Given the description of an element on the screen output the (x, y) to click on. 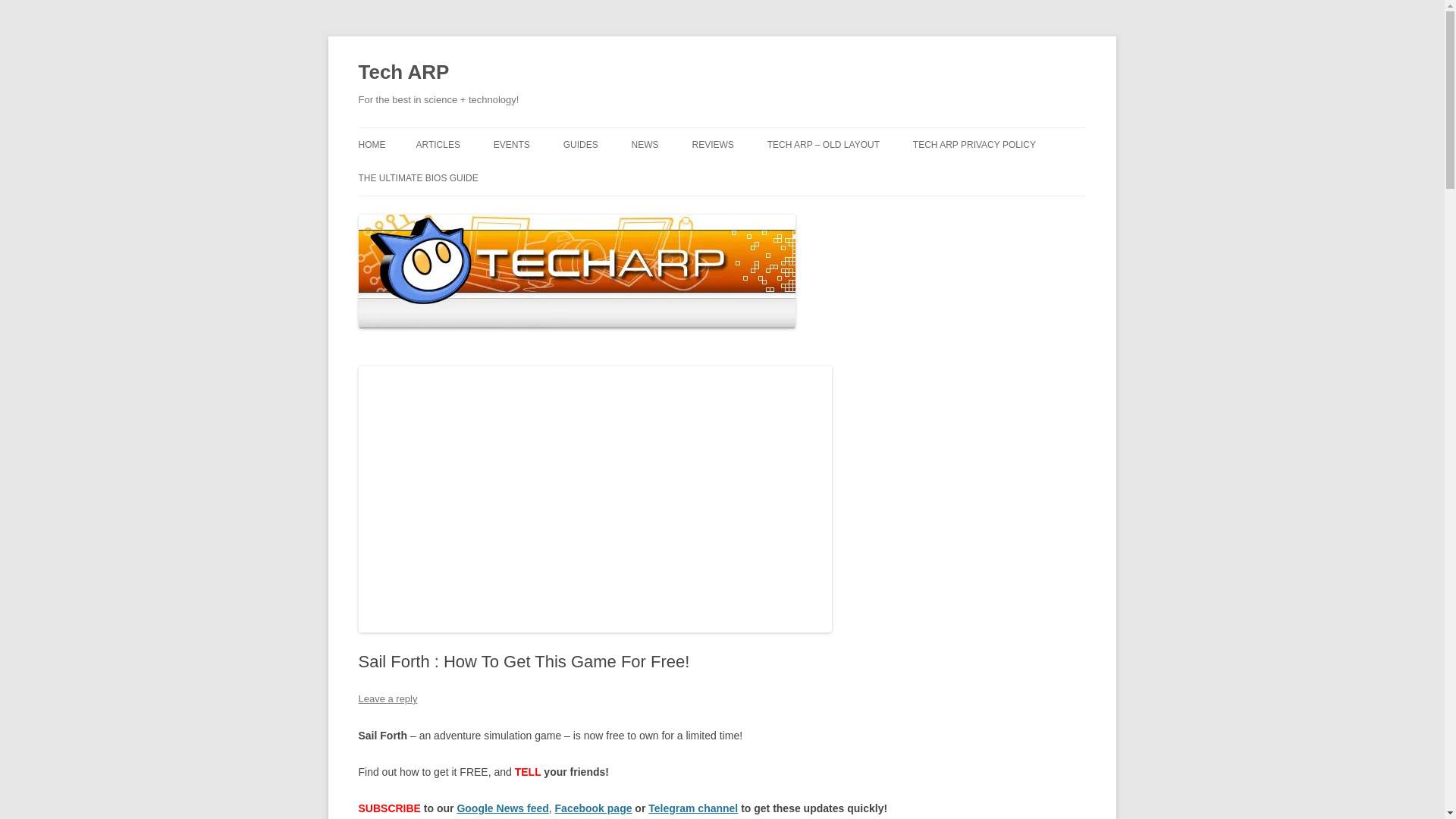
THE ULTIMATE BIOS GUIDE (417, 177)
Tech ARP (403, 72)
Telegram channel (692, 808)
Google News feed (502, 808)
Facebook page (592, 808)
ARTICLES (437, 144)
GUIDES (580, 144)
TECH ARP PRIVACY POLICY (973, 144)
NEWS (645, 144)
HOME (371, 144)
EVENTS (511, 144)
REVIEWS (712, 144)
Leave a reply (387, 698)
